Given the description of an element on the screen output the (x, y) to click on. 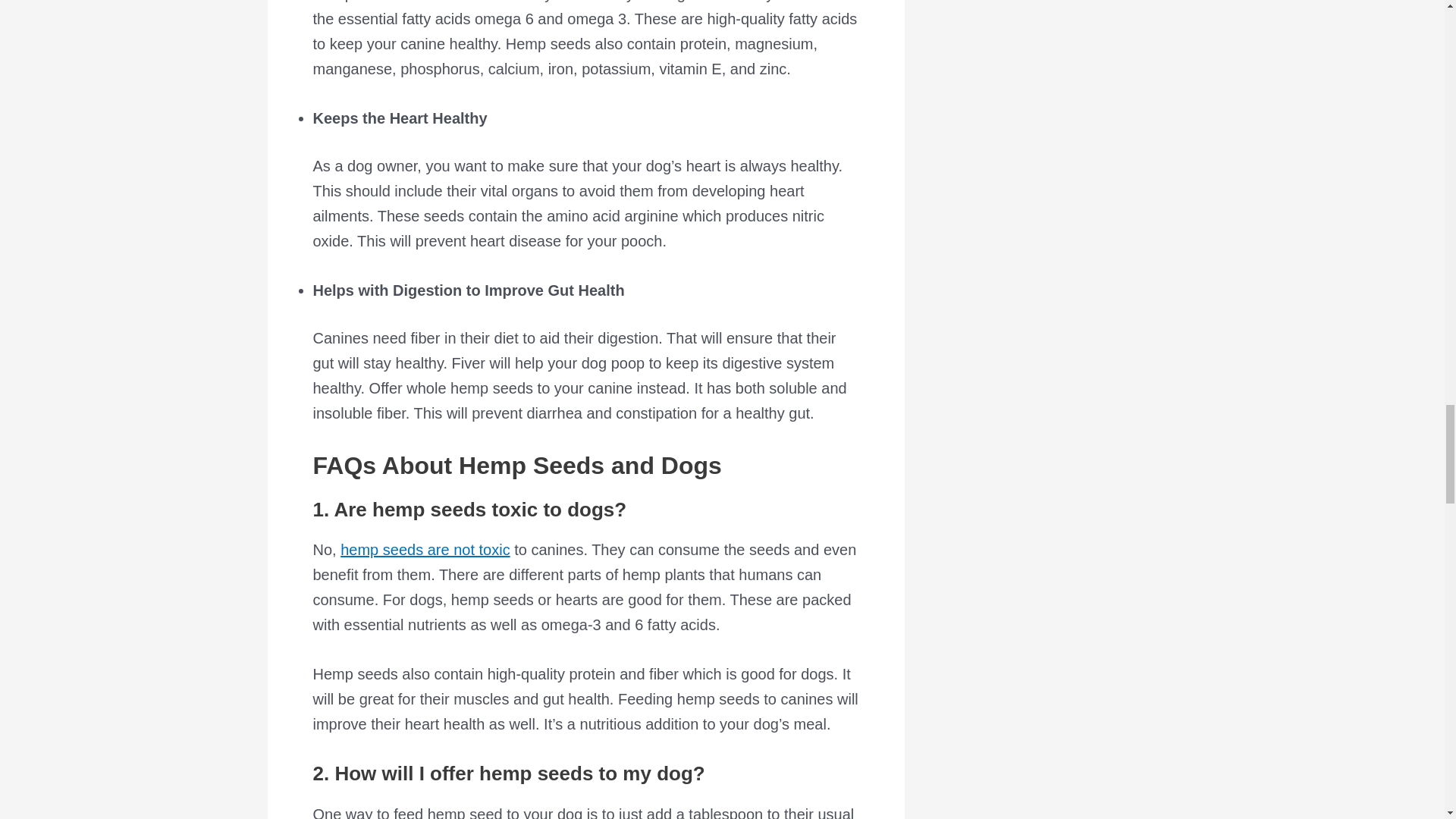
hemp seeds are not toxic (424, 549)
